Given the description of an element on the screen output the (x, y) to click on. 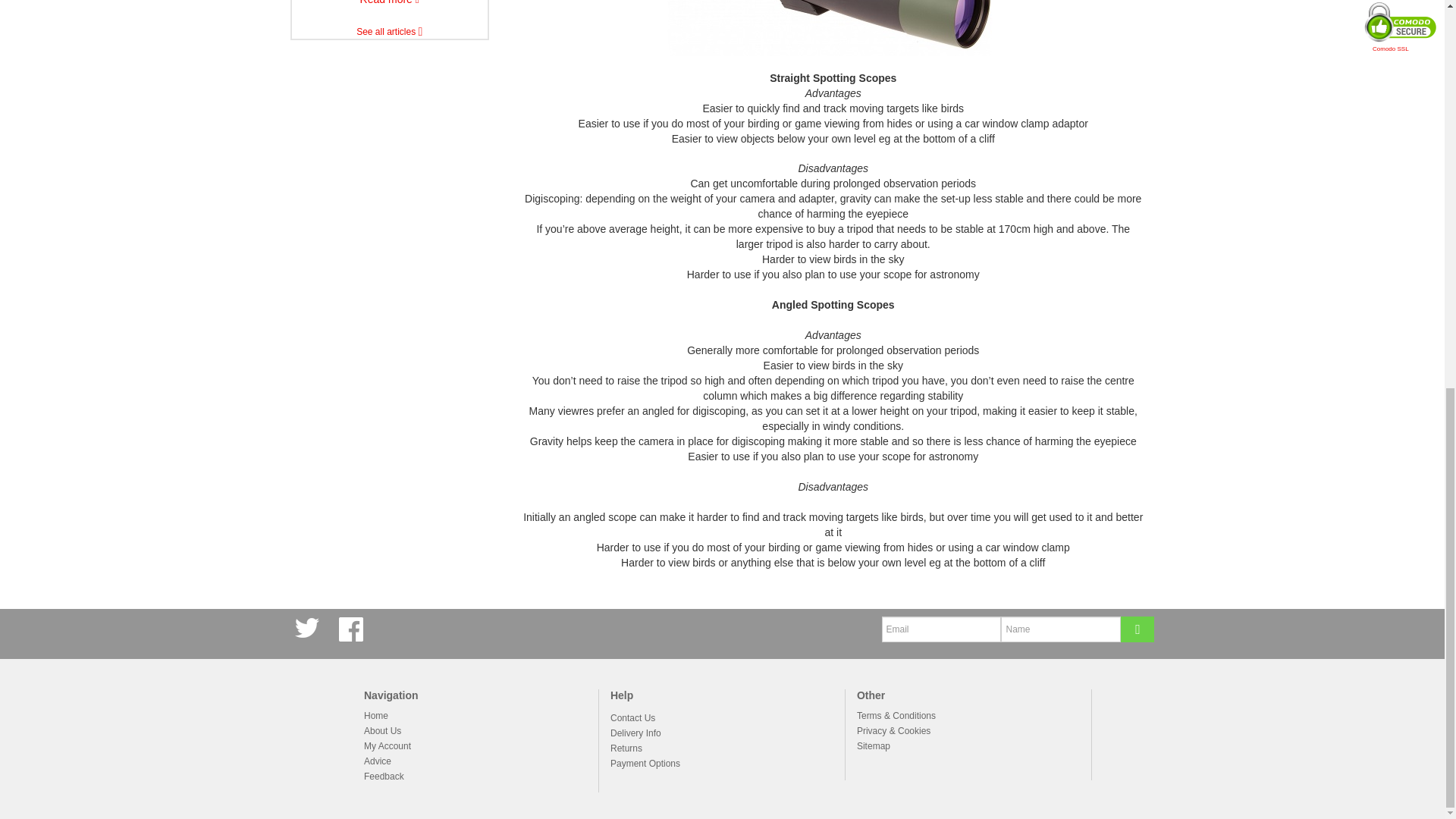
Like us on Facebook (353, 628)
Delivery Information (635, 734)
Follow us on Twitter (308, 628)
